Given the description of an element on the screen output the (x, y) to click on. 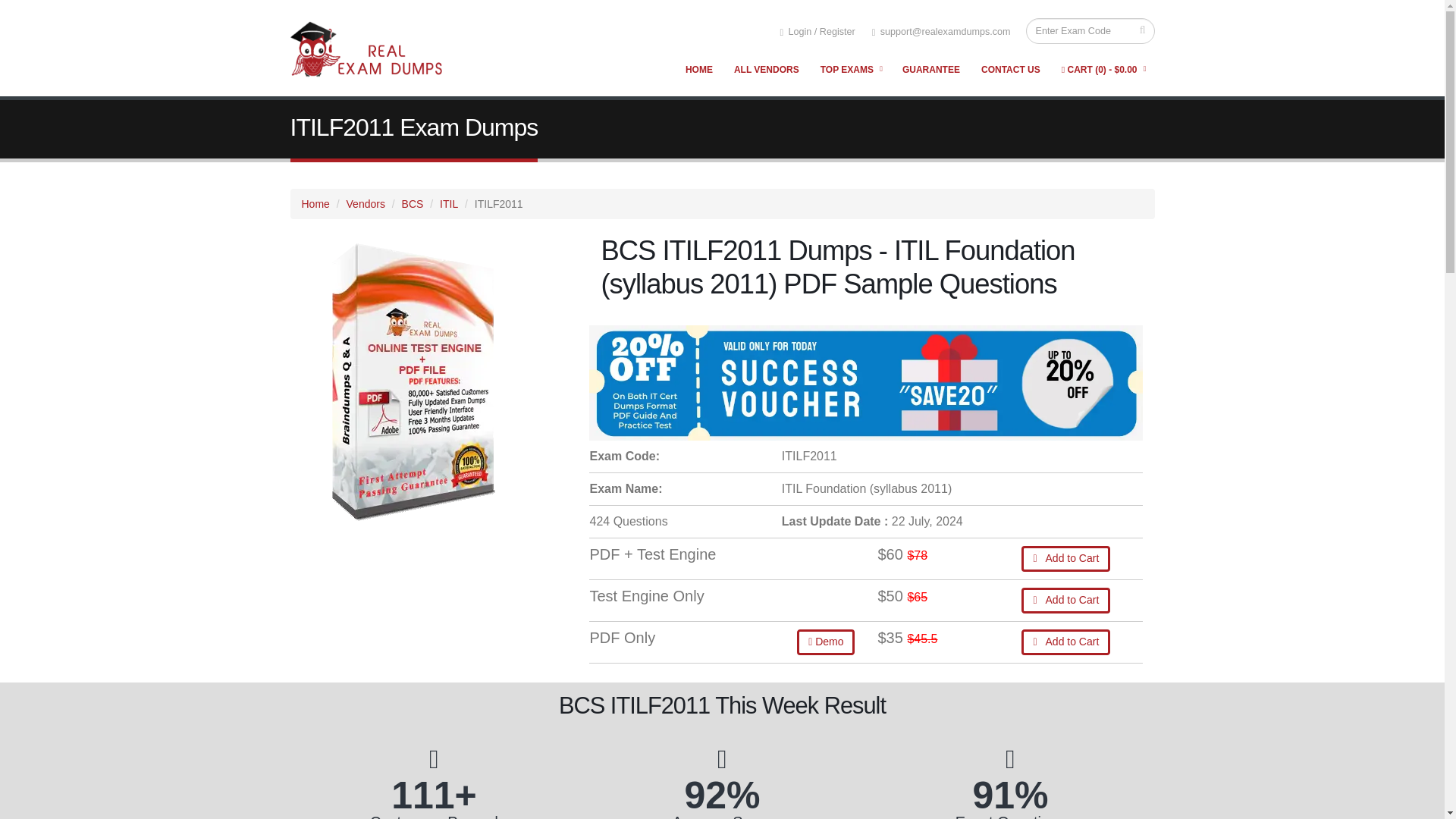
TOP EXAMS (850, 69)
GUARANTEE (930, 69)
HOME (698, 69)
ALL VENDORS (766, 69)
